Given the description of an element on the screen output the (x, y) to click on. 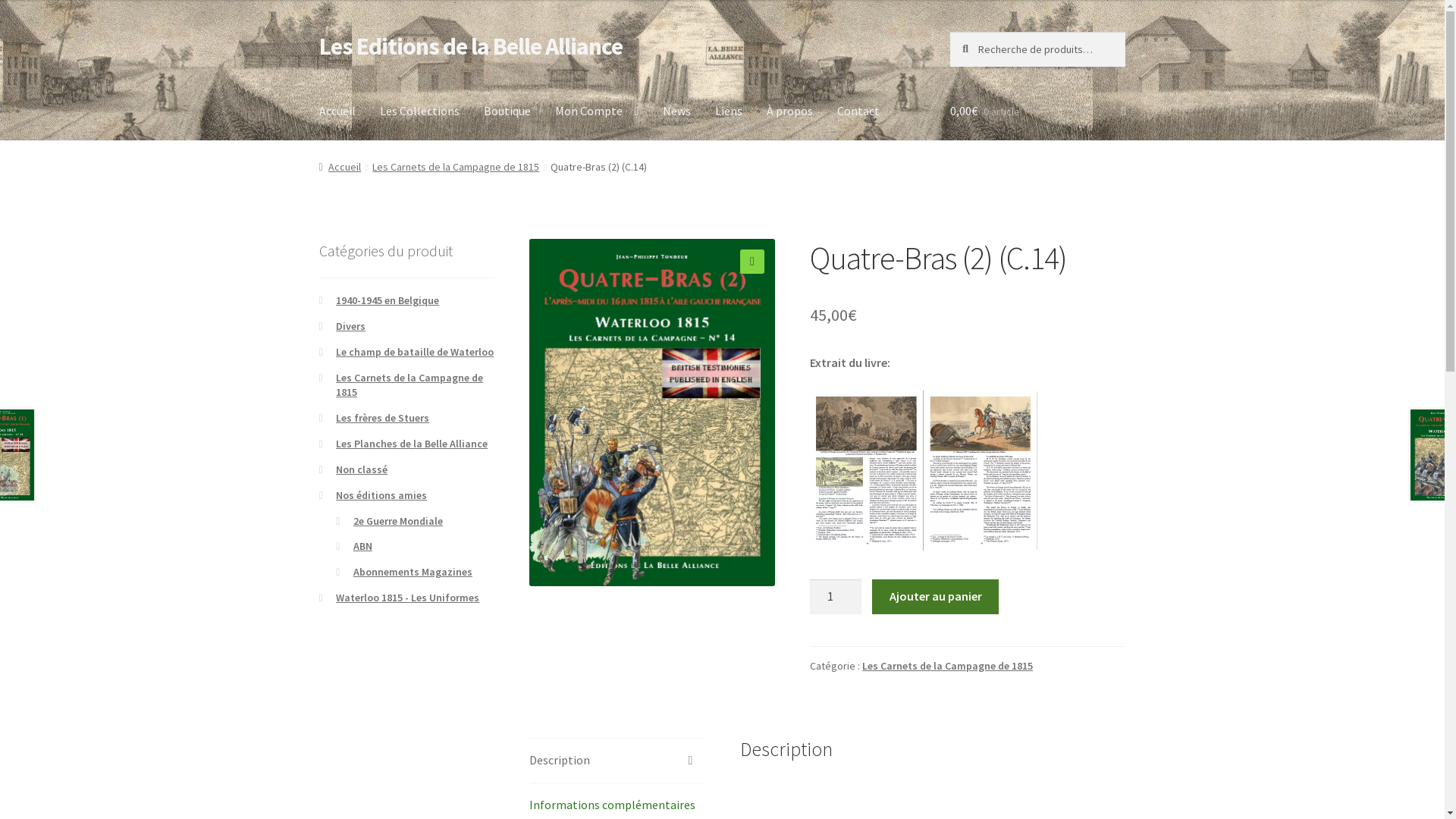
Mon Compte Element type: text (596, 111)
Carnet N14  Quatre bras (2) Couverture_EN Element type: hover (652, 412)
Les Planches de la Belle Alliance Element type: text (411, 443)
Ajouter au panier Element type: text (935, 596)
Les Carnets de la Campagne de 1815 Element type: text (947, 665)
Accueil Element type: text (337, 111)
Description Element type: text (616, 760)
Les Carnets de la Campagne de 1815 Element type: text (455, 166)
Contact Element type: text (858, 111)
2e Guerre Mondiale Element type: text (397, 520)
Le champ de bataille de Waterloo Element type: text (414, 351)
Liens Element type: text (728, 111)
Boutique Element type: text (506, 111)
Les Editions de la Belle Alliance Element type: text (470, 46)
Waterloo 1815 - Les Uniformes Element type: text (407, 597)
Recherche Element type: text (949, 31)
1940-1945 en Belgique Element type: text (387, 300)
Divers Element type: text (350, 325)
News Element type: text (676, 111)
Les Collections Element type: text (419, 111)
ABN Element type: text (362, 545)
Les Carnets de la Campagne de 1815 Element type: text (409, 384)
Abonnements Magazines Element type: text (412, 571)
Accueil Element type: text (340, 166)
